Given the description of an element on the screen output the (x, y) to click on. 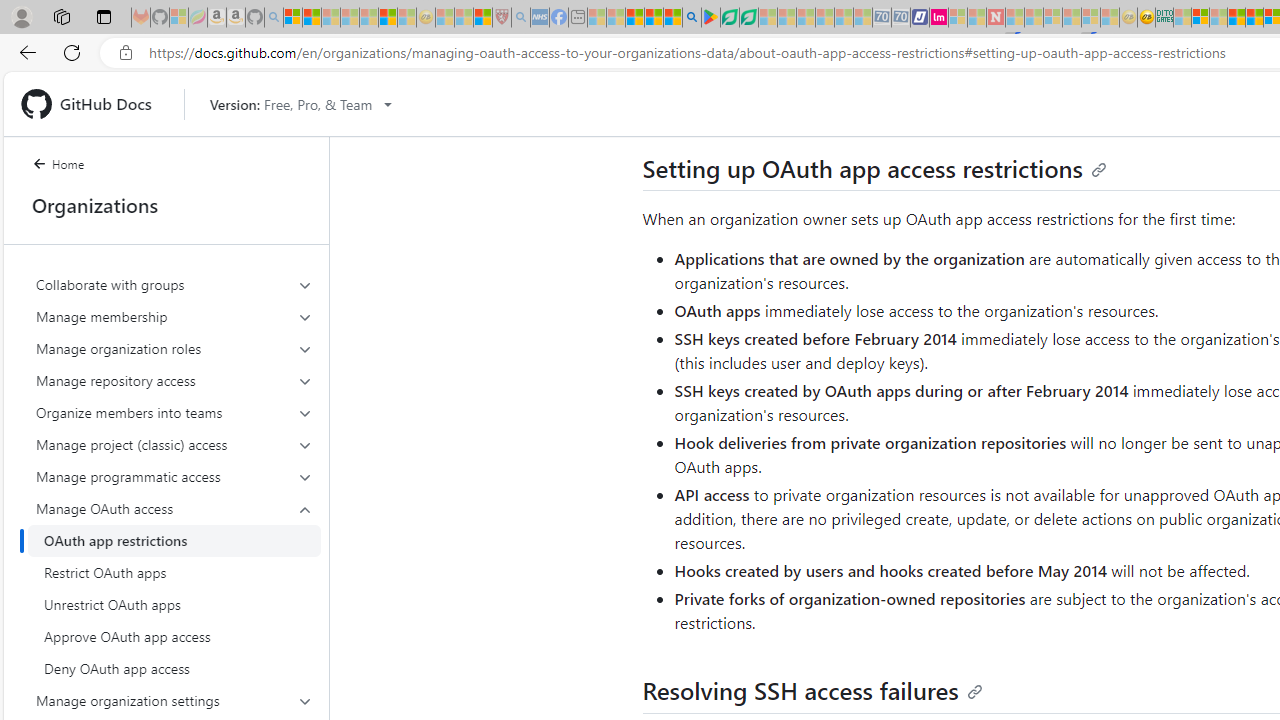
Approve OAuth app access (174, 636)
Setting up OAuth app access restrictions (874, 168)
